Given the description of an element on the screen output the (x, y) to click on. 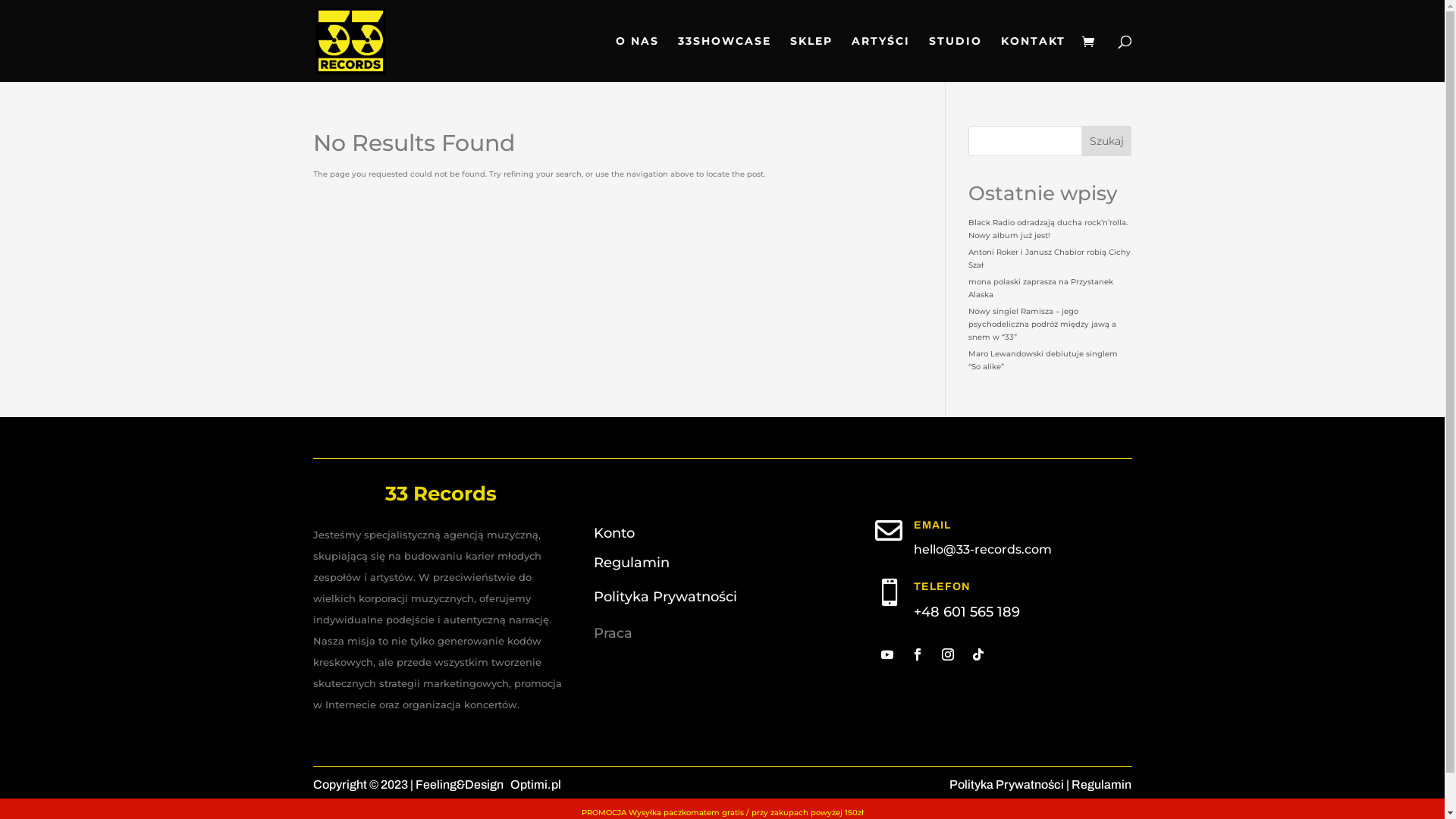
KONTAKT Element type: text (1033, 58)
Regulamin Element type: text (1101, 784)
Follow on Facebook Element type: hover (917, 654)
+48 601 565 189 Element type: text (966, 611)
hello@33-records.com Element type: text (982, 549)
33SHOWCASE Element type: text (724, 58)
SKLEP Element type: text (811, 58)
Follow on Instagram Element type: hover (947, 654)
Regulamin Element type: text (631, 562)
Follow on TikTok Element type: hover (978, 654)
Szukaj Element type: text (1106, 140)
Konto Element type: text (613, 532)
Follow on Youtube Element type: hover (887, 654)
STUDIO Element type: text (954, 58)
mona polaski zaprasza na Przystanek Alaska Element type: text (1040, 287)
O NAS Element type: text (636, 58)
